Given the description of an element on the screen output the (x, y) to click on. 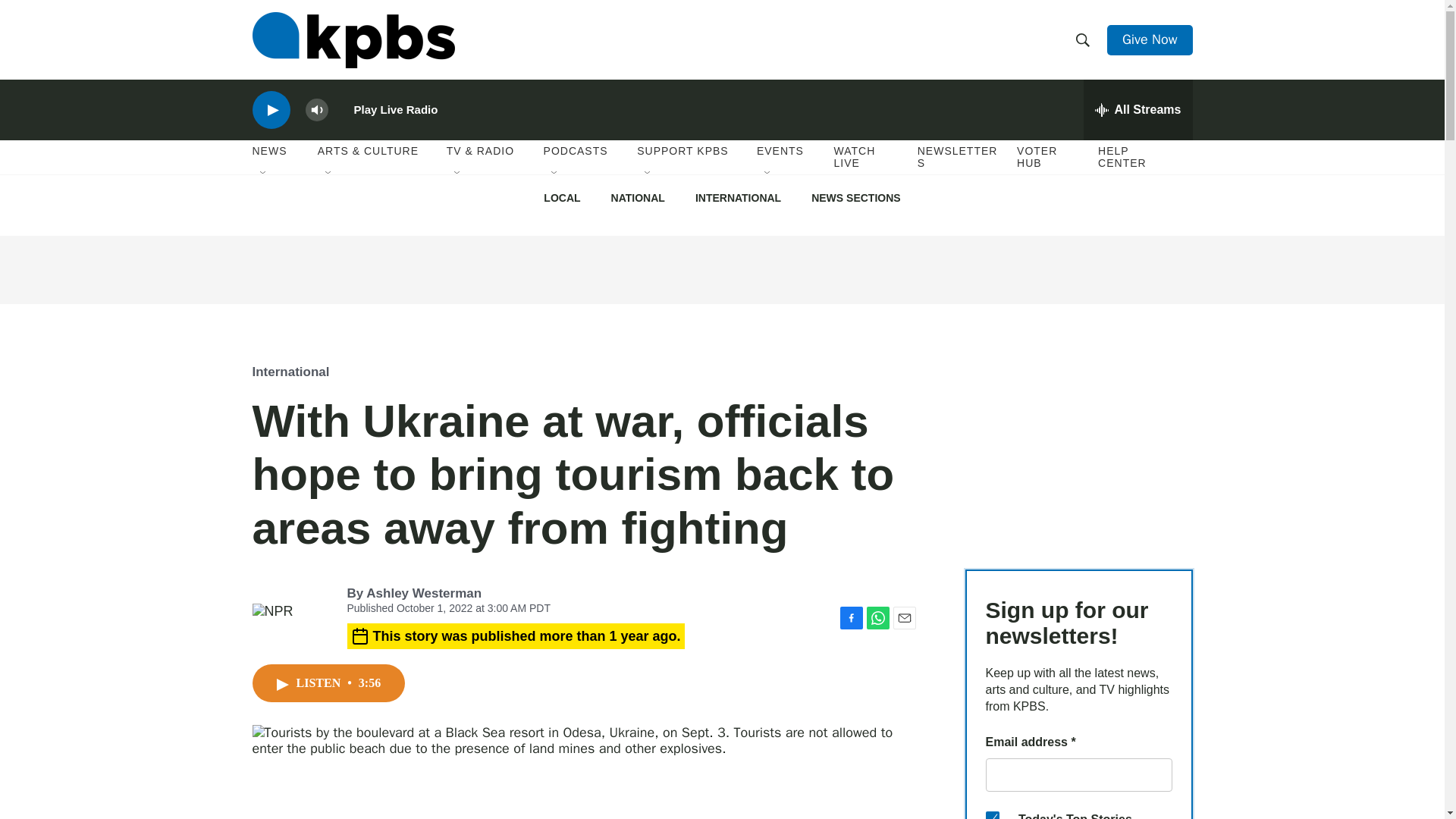
4 (991, 815)
